Given the description of an element on the screen output the (x, y) to click on. 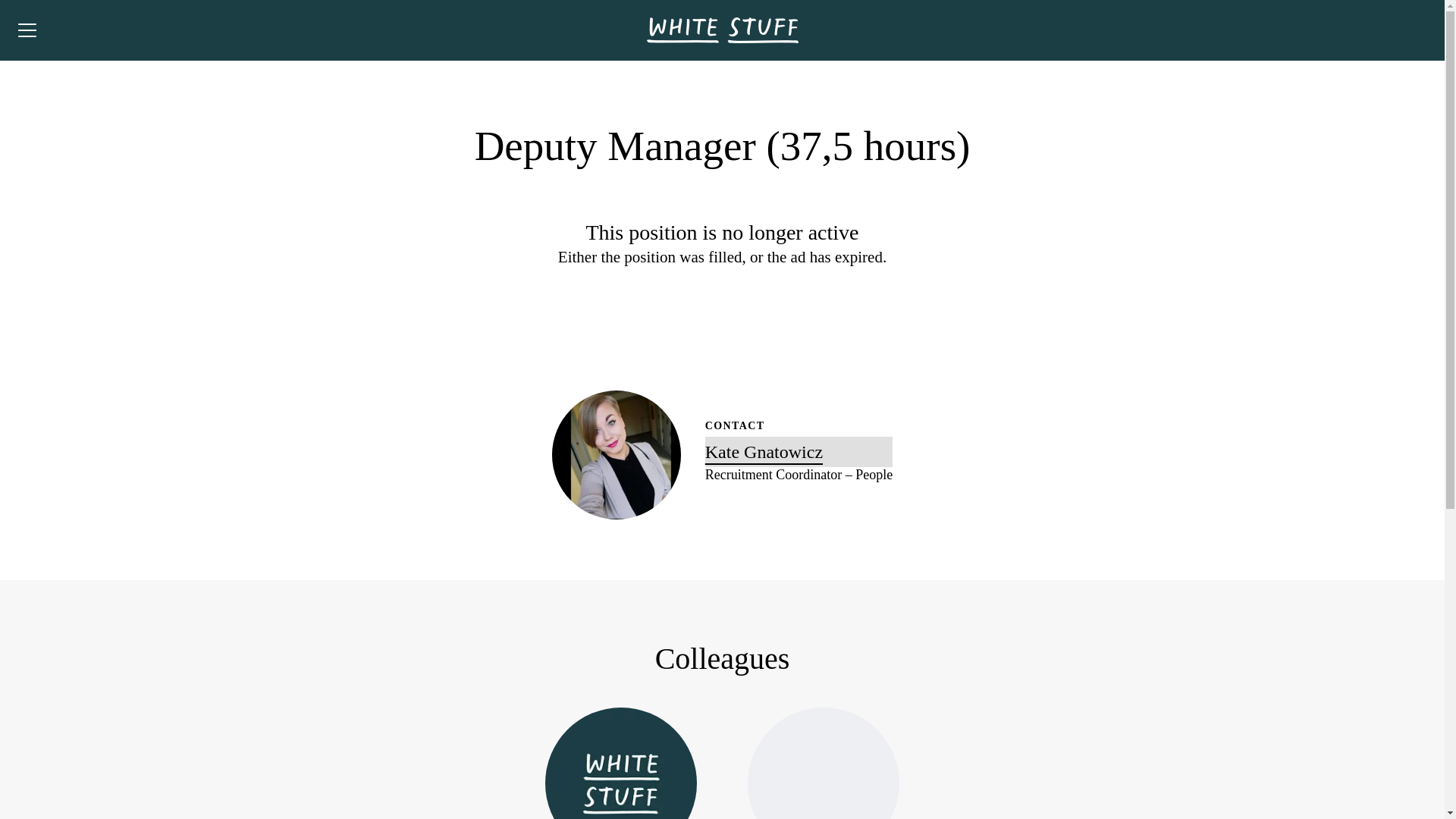
Career menu (822, 763)
Kate Gnatowicz (26, 30)
Derby (798, 451)
